Given the description of an element on the screen output the (x, y) to click on. 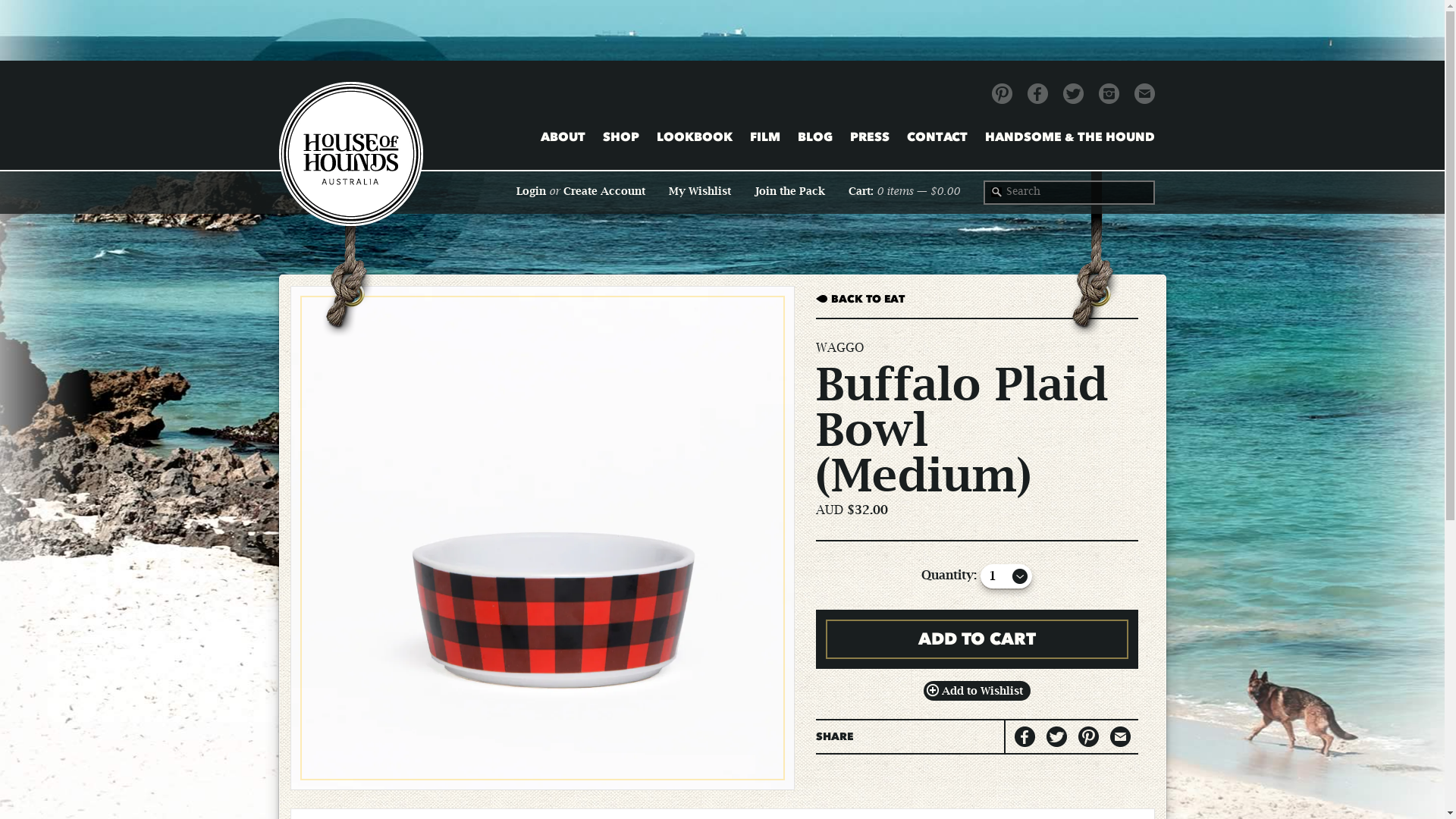
LOOKBOOK Element type: text (694, 136)
Pinterest Element type: text (1001, 93)
BACK TO EAT Element type: text (976, 298)
BLOG Element type: text (814, 136)
1
  Element type: text (1006, 576)
PRESS Element type: text (868, 136)
ABOUT Element type: text (561, 136)
SHOP Element type: text (620, 136)
HANDSOME & THE HOUND Element type: text (1069, 136)
Join the Pack Element type: text (788, 191)
Twitter Element type: text (1073, 93)
Facebook Element type: text (1036, 93)
Email Element type: text (1144, 93)
My Wishlist Element type: text (699, 191)
Instagram Element type: text (1108, 93)
CONTACT Element type: text (936, 136)
Add to Cart Element type: text (976, 638)
Login or Create Account Element type: text (579, 191)
FILM Element type: text (764, 136)
